Given the description of an element on the screen output the (x, y) to click on. 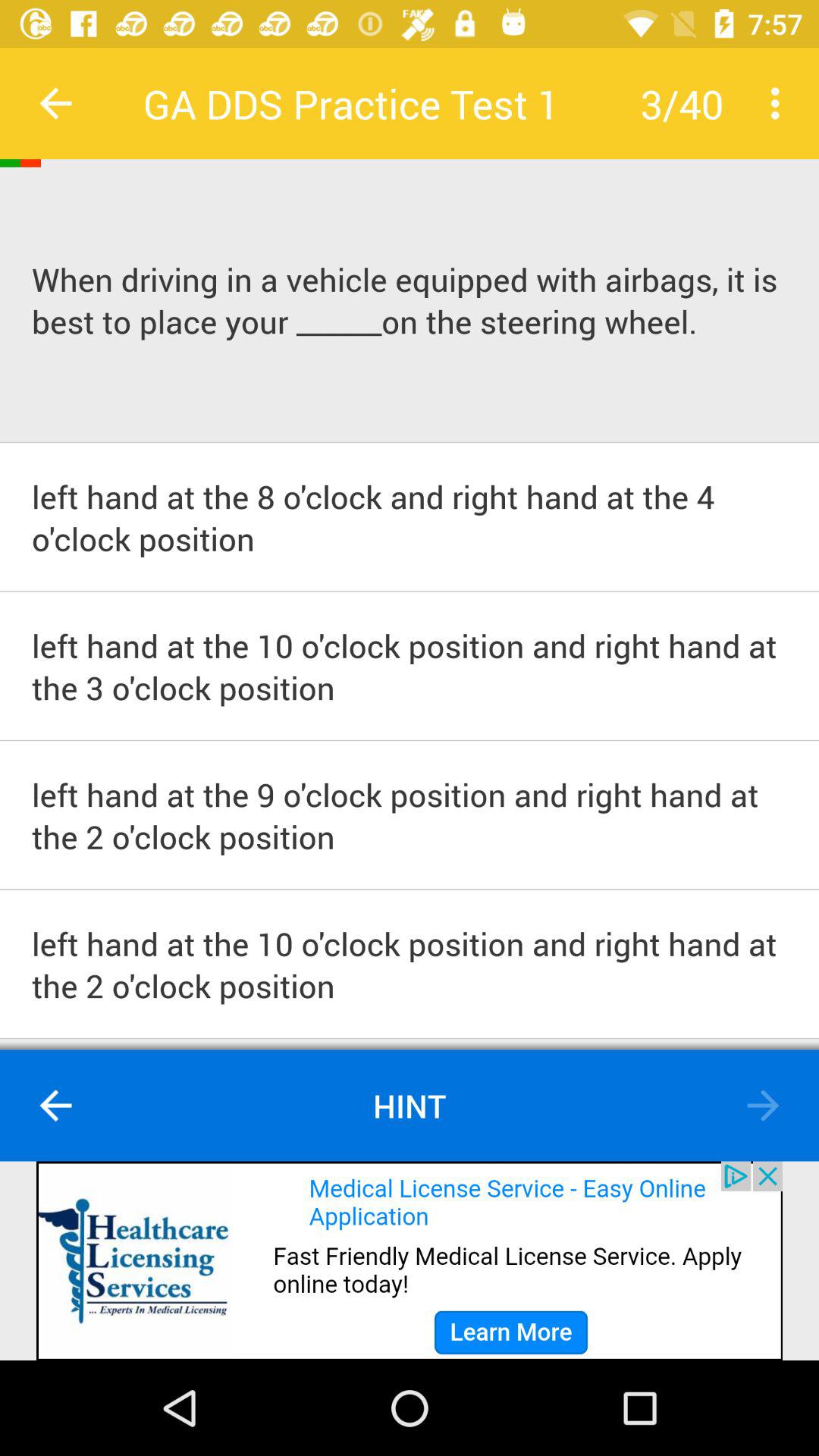
go back (55, 103)
